Given the description of an element on the screen output the (x, y) to click on. 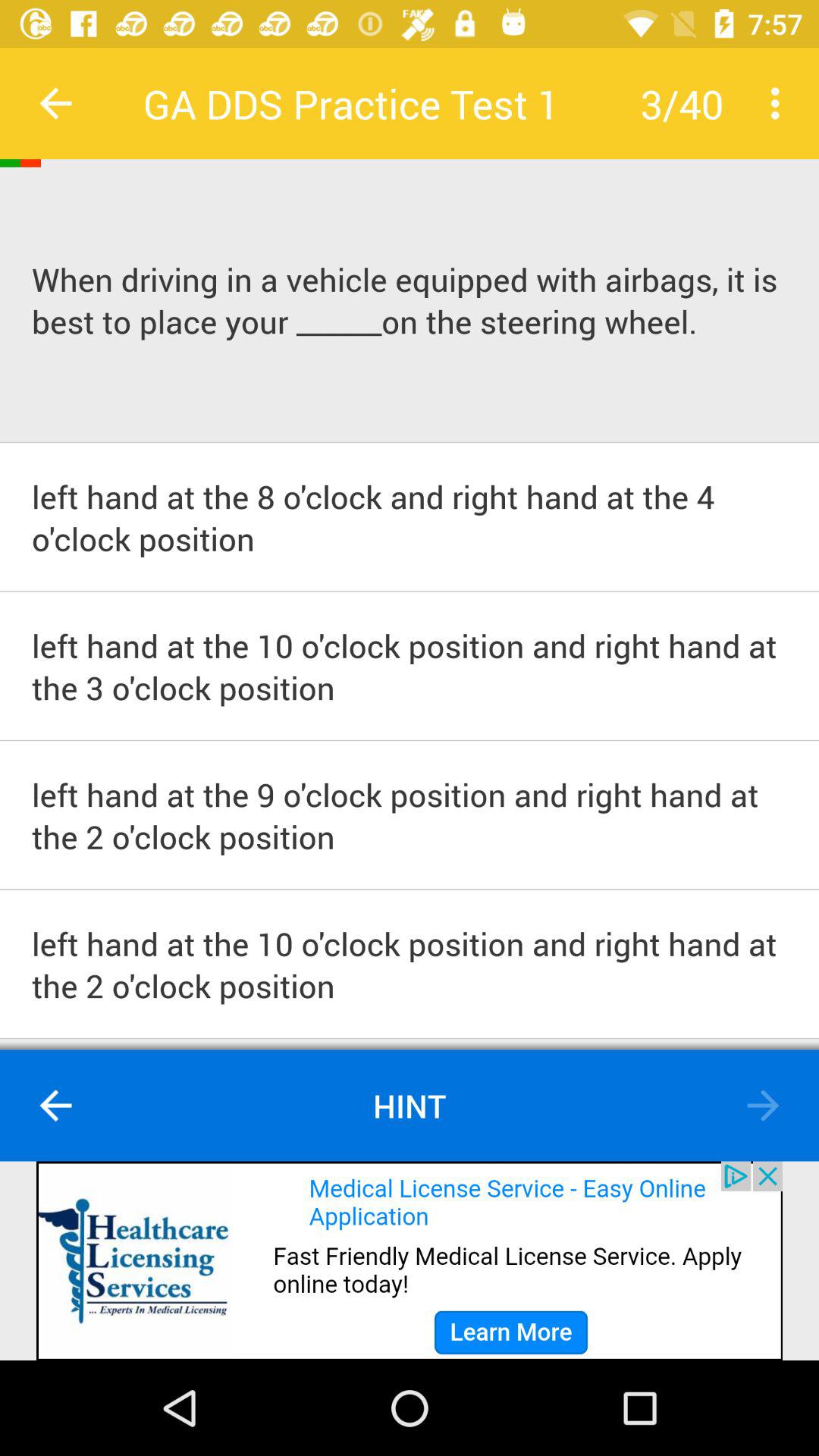
go back (55, 103)
